Given the description of an element on the screen output the (x, y) to click on. 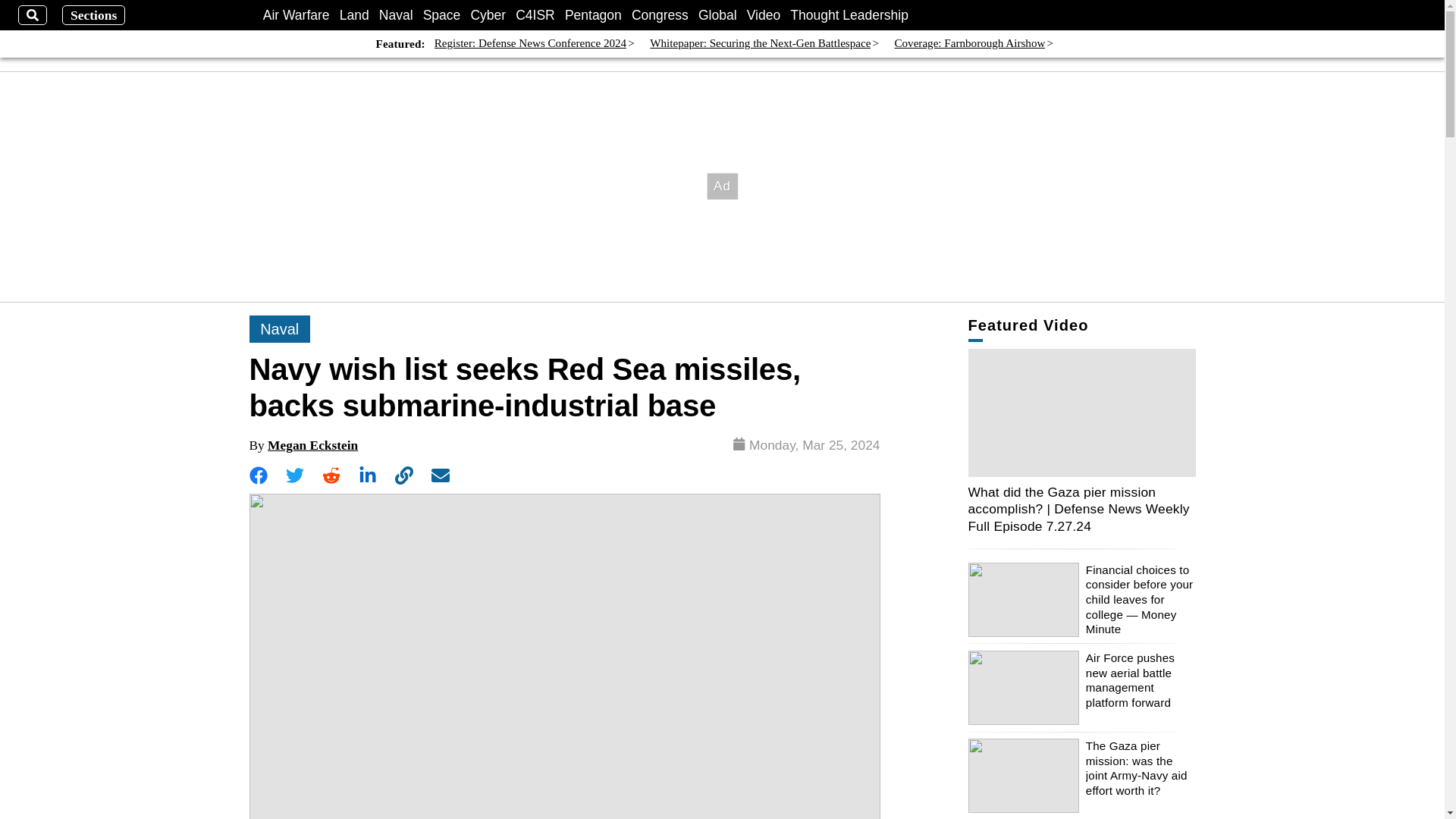
Video (763, 14)
Pentagon (592, 14)
Space (442, 14)
Congress (659, 14)
Global (717, 14)
Air Warfare (296, 14)
Sections (93, 14)
Naval (395, 14)
Thought Leadership (849, 14)
Land (354, 14)
